Given the description of an element on the screen output the (x, y) to click on. 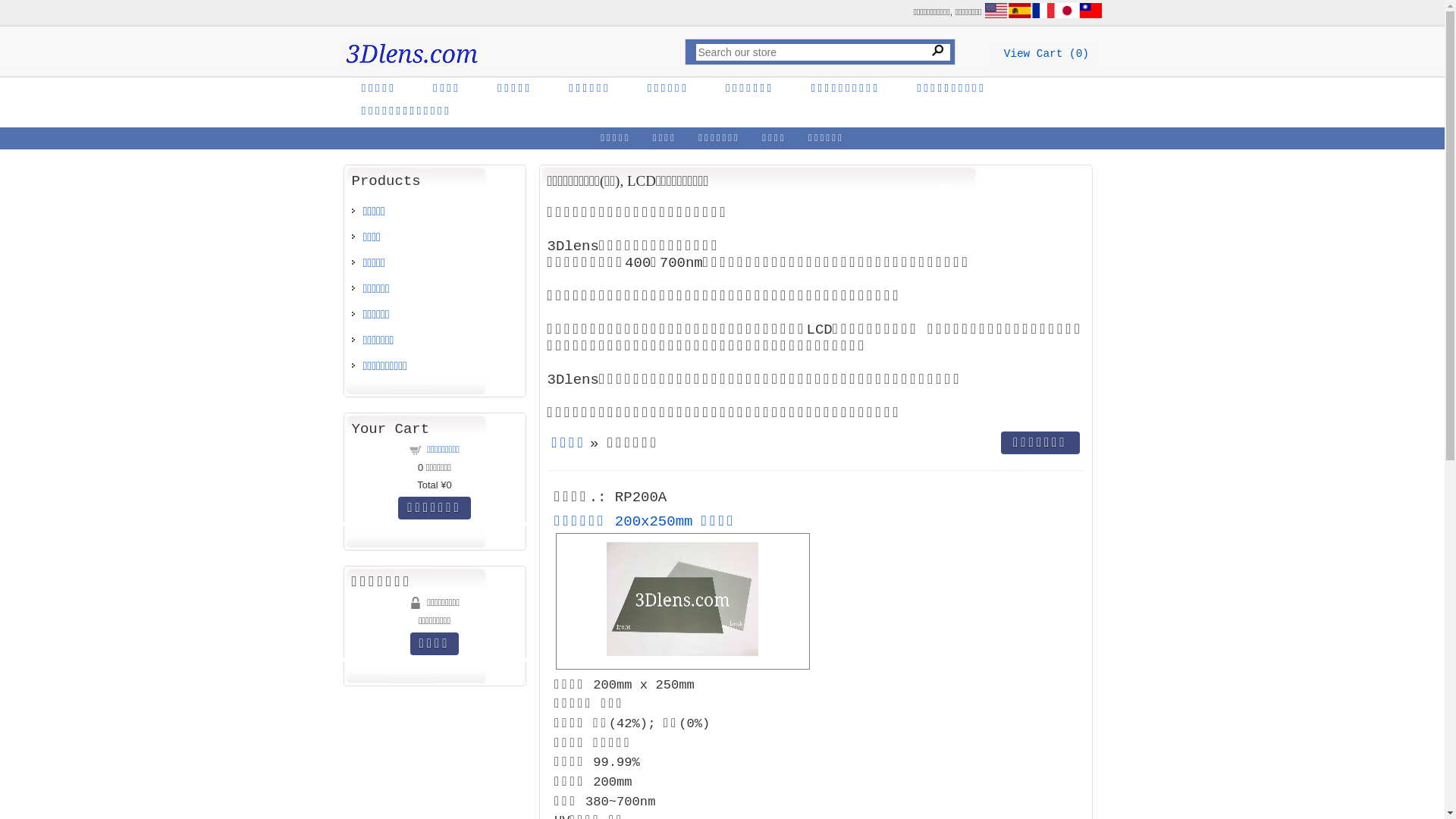
Search Element type: hover (937, 49)
View Cart (0) Element type: text (1046, 53)
